Given the description of an element on the screen output the (x, y) to click on. 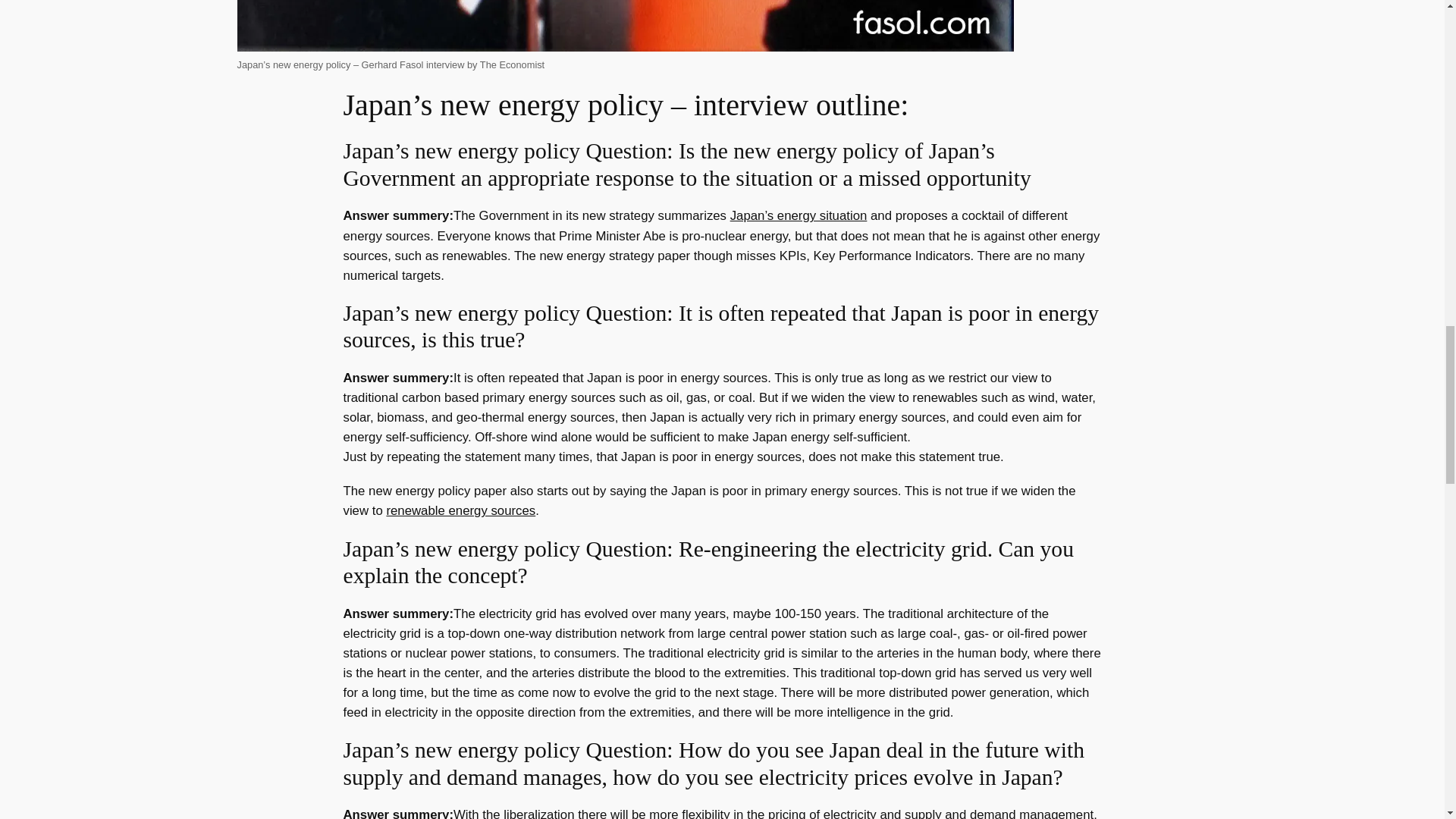
renewable energy sources (460, 510)
renewable energy in Japan (460, 510)
Eurotechnology report on Japan's energy situation (798, 215)
